Given the description of an element on the screen output the (x, y) to click on. 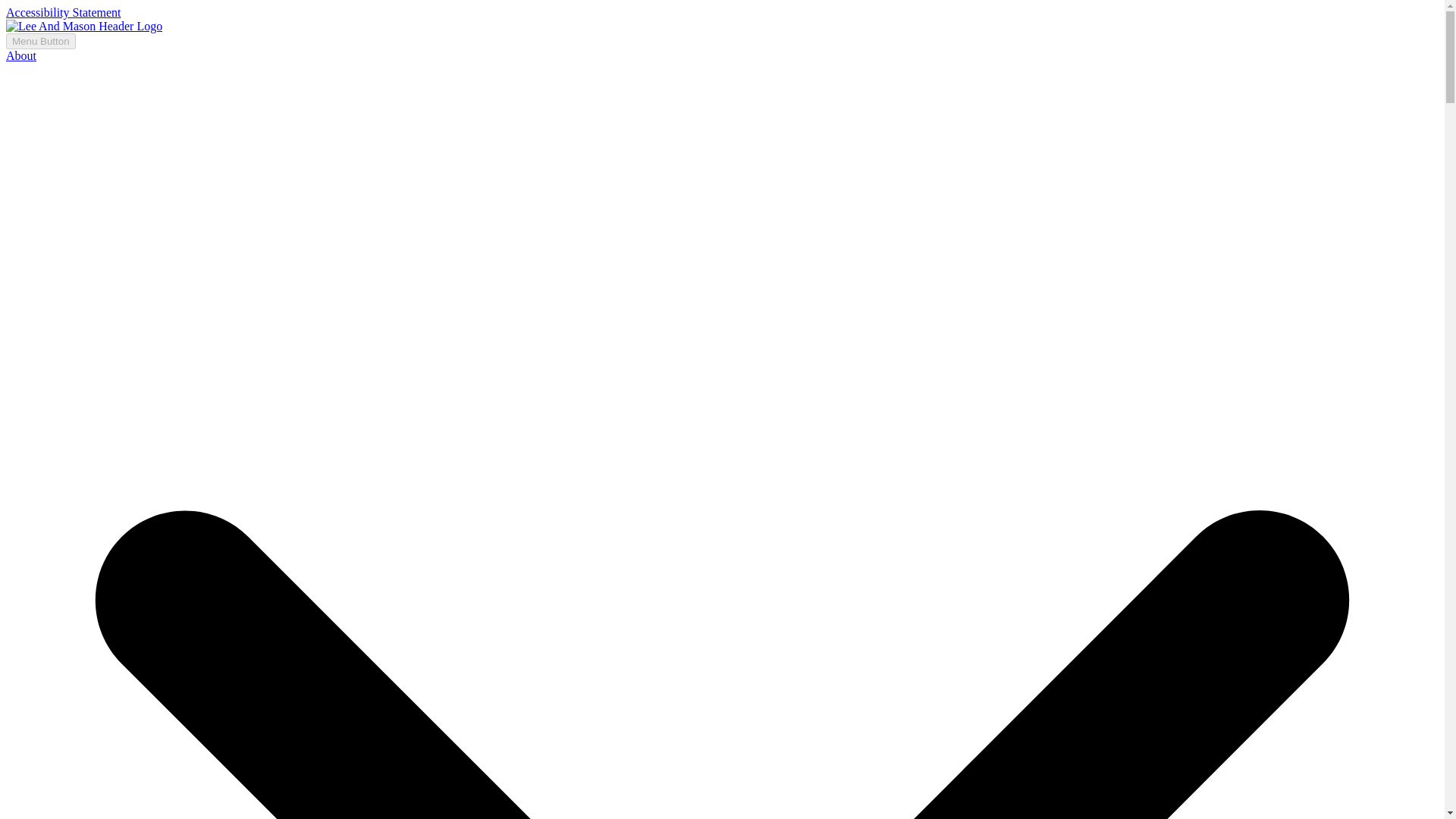
Menu Button (40, 41)
Accessibility Statement (62, 11)
